Given the description of an element on the screen output the (x, y) to click on. 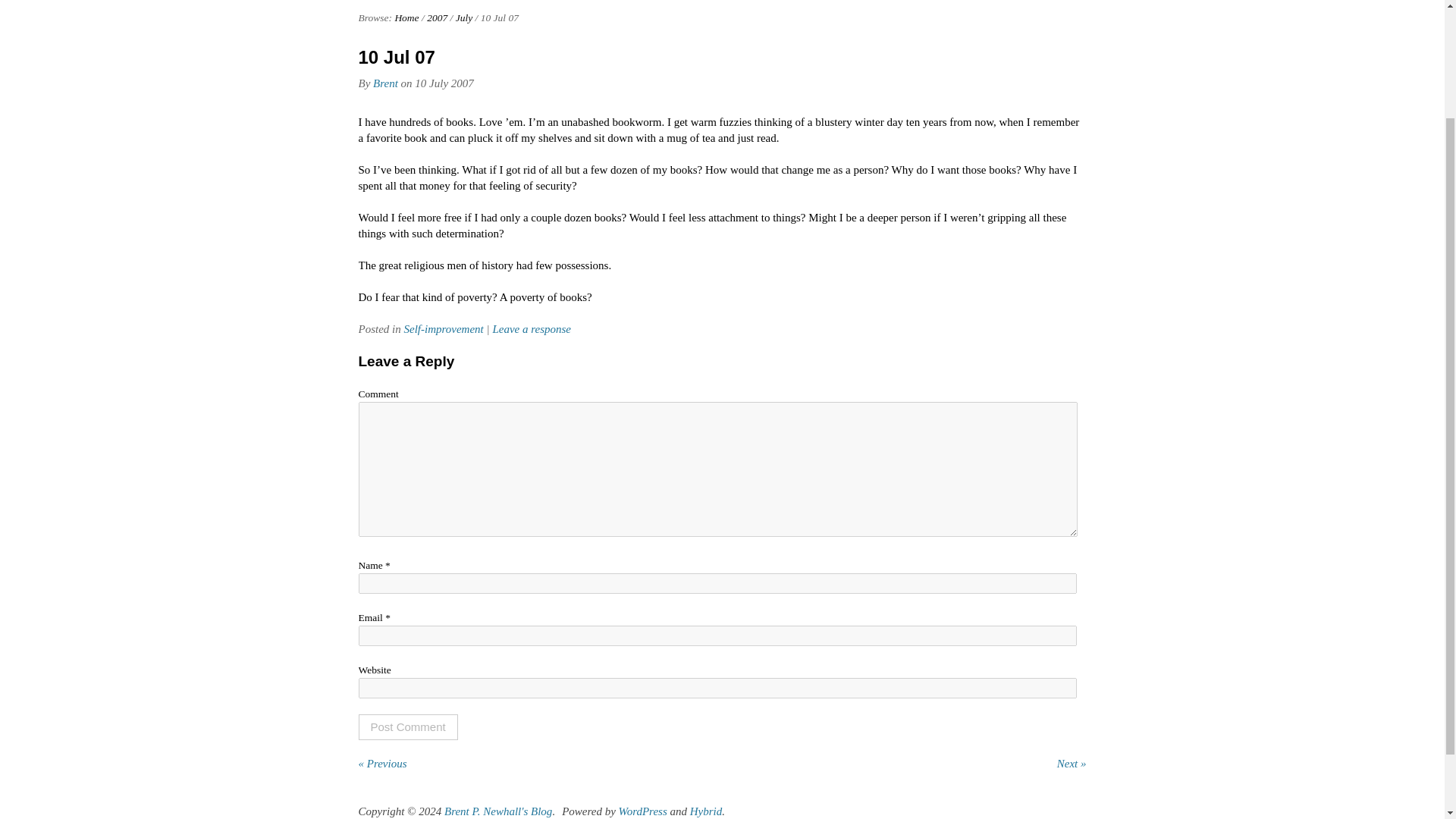
Brent (384, 82)
July 2007 (464, 17)
Tuesday, July 10th, 2007, 12:00 am (443, 82)
WordPress (642, 811)
2007 (436, 17)
Brent (384, 82)
Brent P. Newhall's Blog (497, 811)
Self-improvement (443, 328)
July (464, 17)
Post Comment (407, 727)
Hybrid WordPress Theme (706, 811)
Brent P. Newhall's Blog (497, 811)
Post Comment (407, 727)
10 Jul 07 (395, 56)
Home (406, 17)
